Given the description of an element on the screen output the (x, y) to click on. 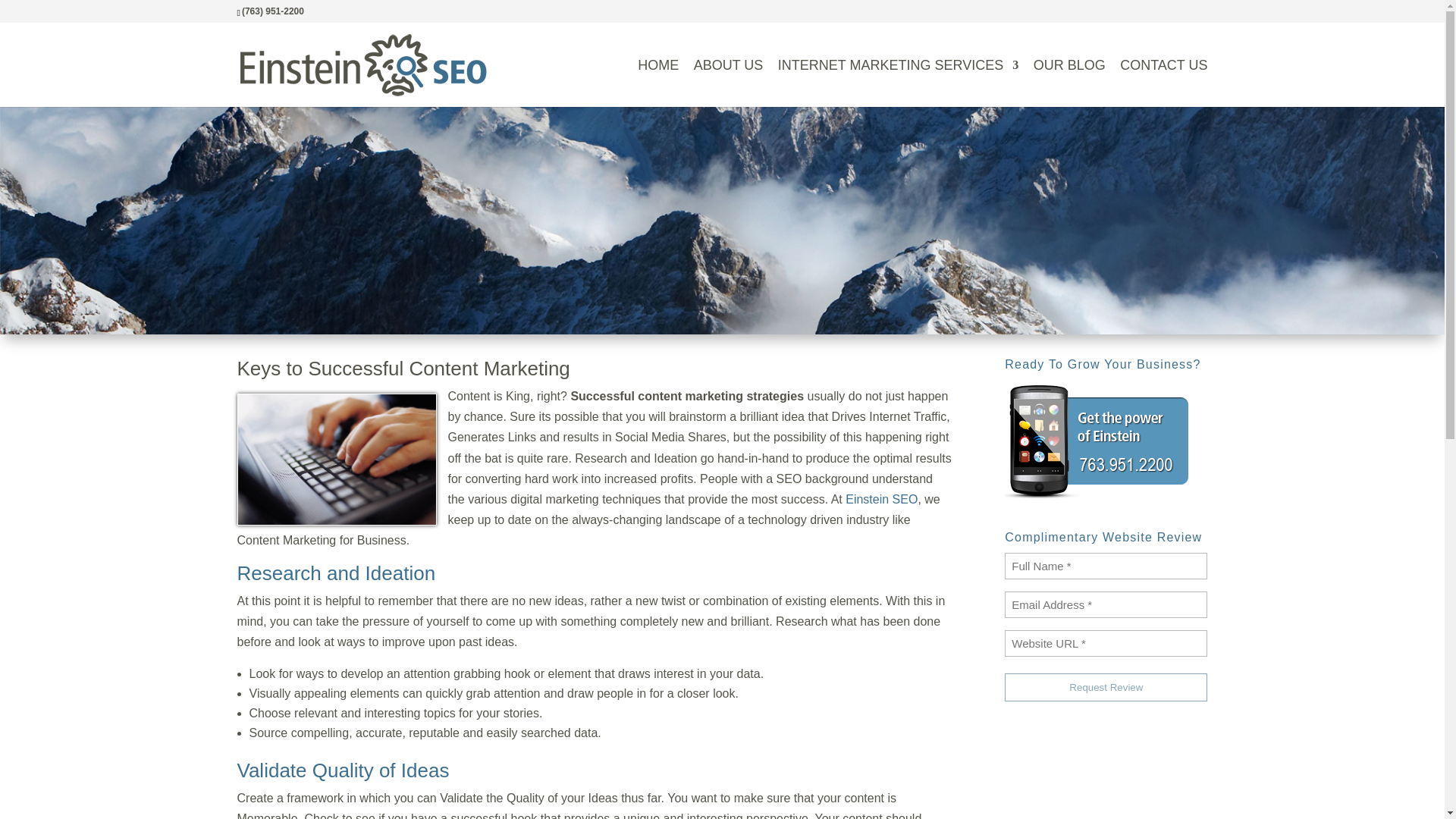
Einstein SEO (881, 499)
OUR BLOG (1069, 82)
Request Review (1105, 687)
CONTACT US (1163, 82)
Request Review (1105, 687)
ABOUT US (728, 82)
INTERNET MARKETING SERVICES (897, 82)
